Given the description of an element on the screen output the (x, y) to click on. 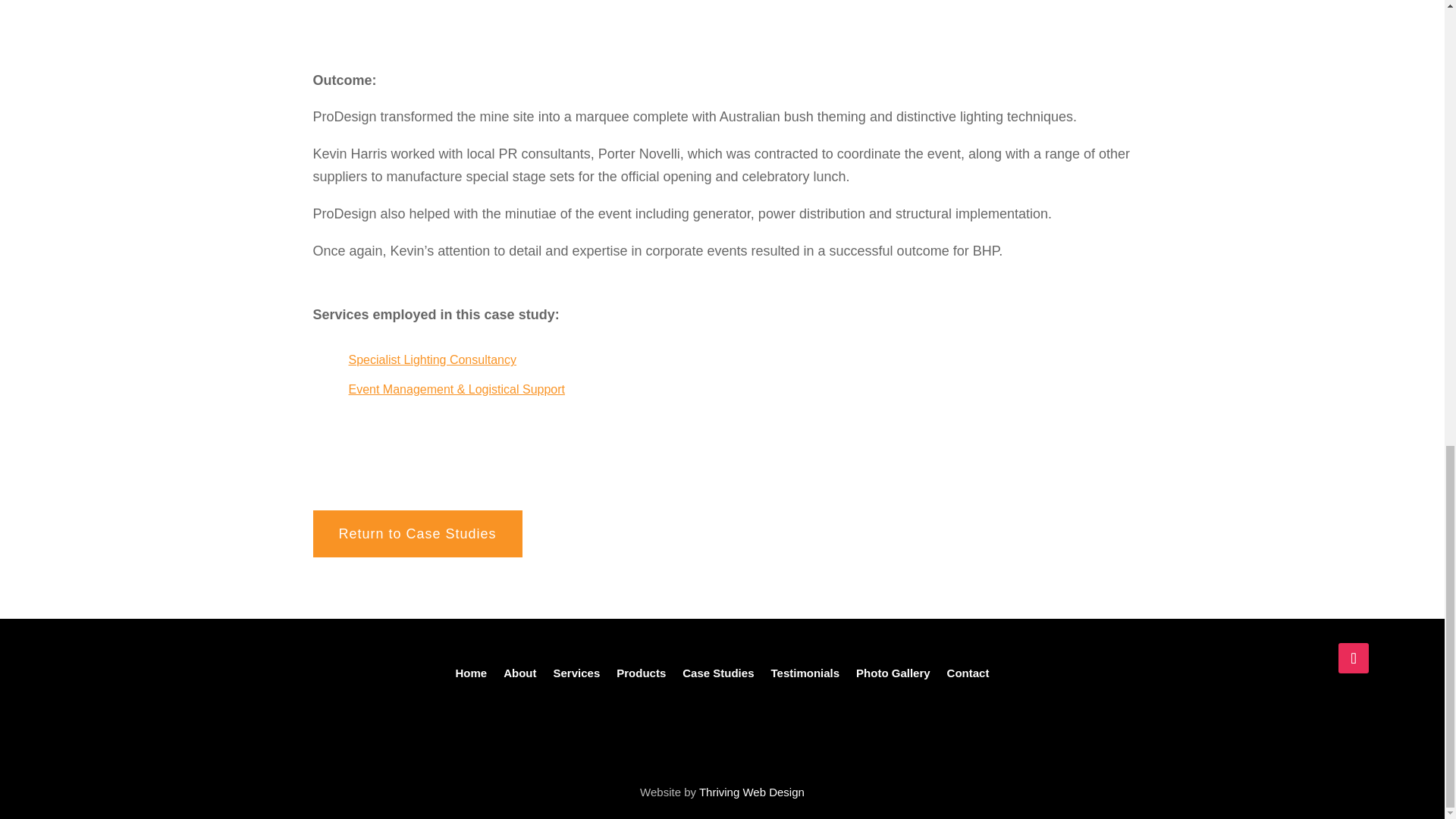
Services (576, 676)
Home (470, 676)
About (519, 676)
Return to Case Studies (417, 533)
Products (640, 676)
Follow on Instagram (1353, 657)
